Given the description of an element on the screen output the (x, y) to click on. 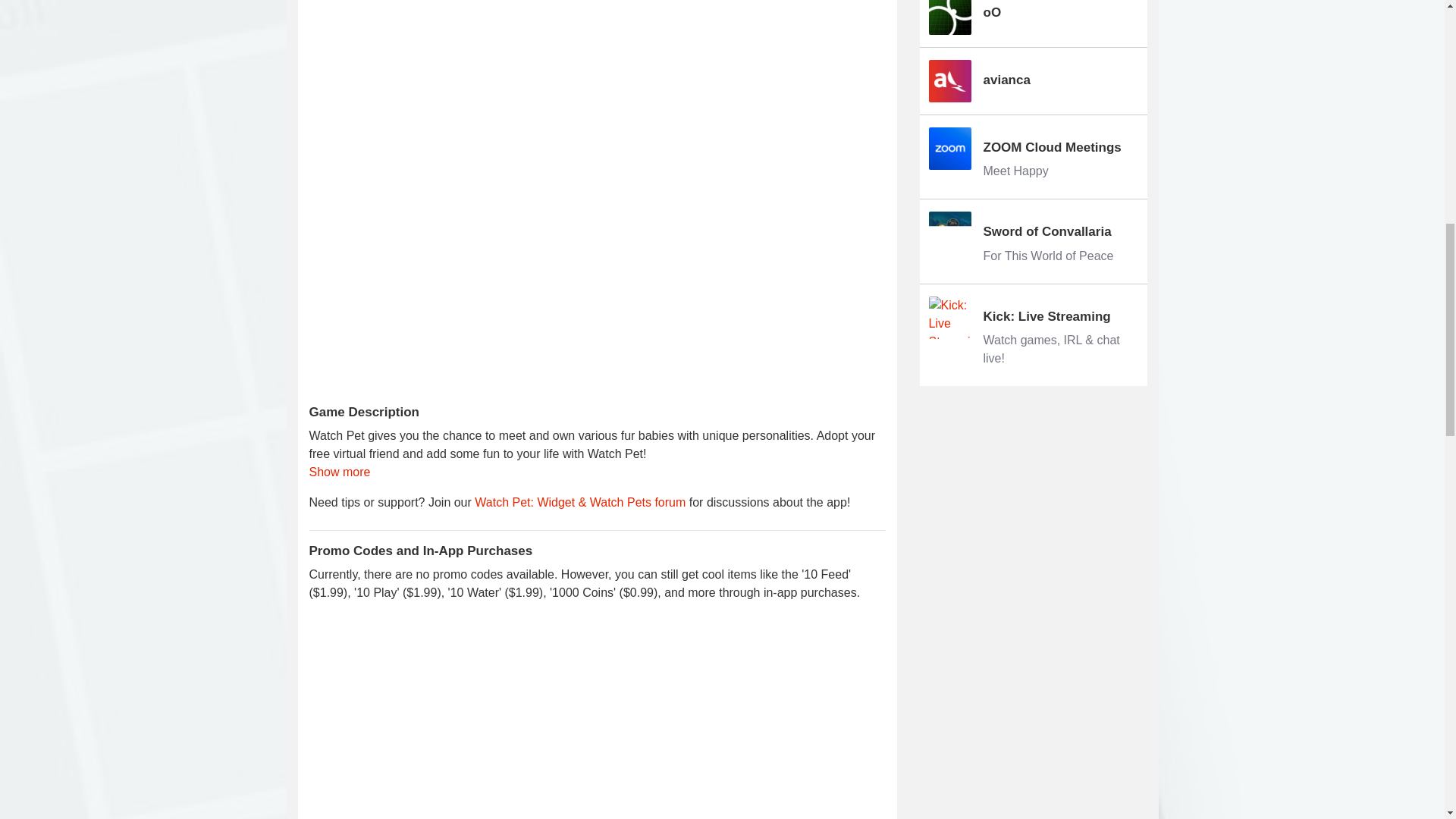
Download avianca App (1032, 156)
Download ZOOM Cloud Meetings App (1032, 80)
Download oO App (1032, 156)
Download Kick: Live Streaming App (1032, 17)
oO (1032, 334)
Download Sword of Convallaria App (1032, 241)
Show more (1032, 17)
avianca (1032, 241)
